Given the description of an element on the screen output the (x, y) to click on. 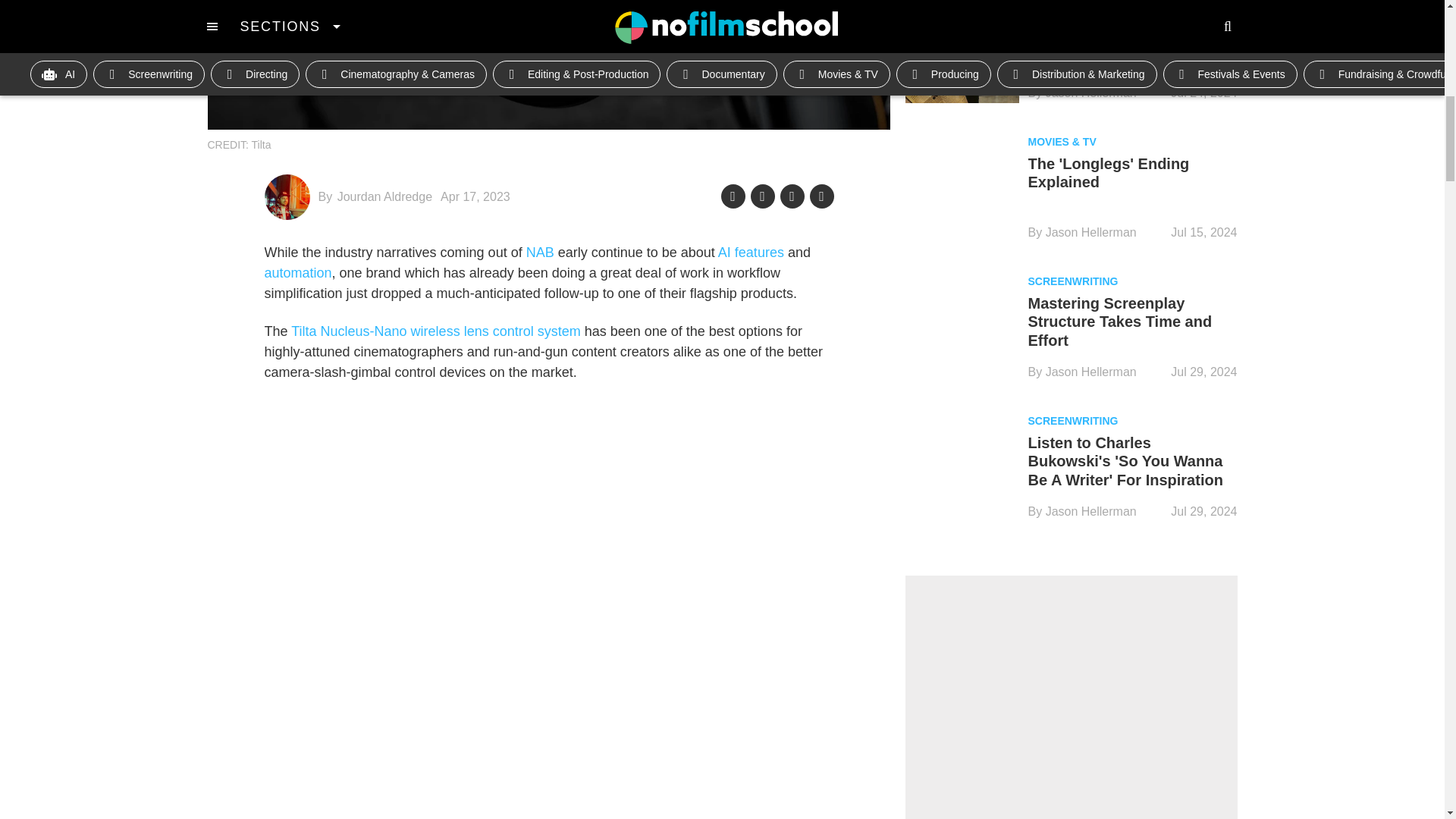
Jourdan Aldredge (384, 196)
